Given the description of an element on the screen output the (x, y) to click on. 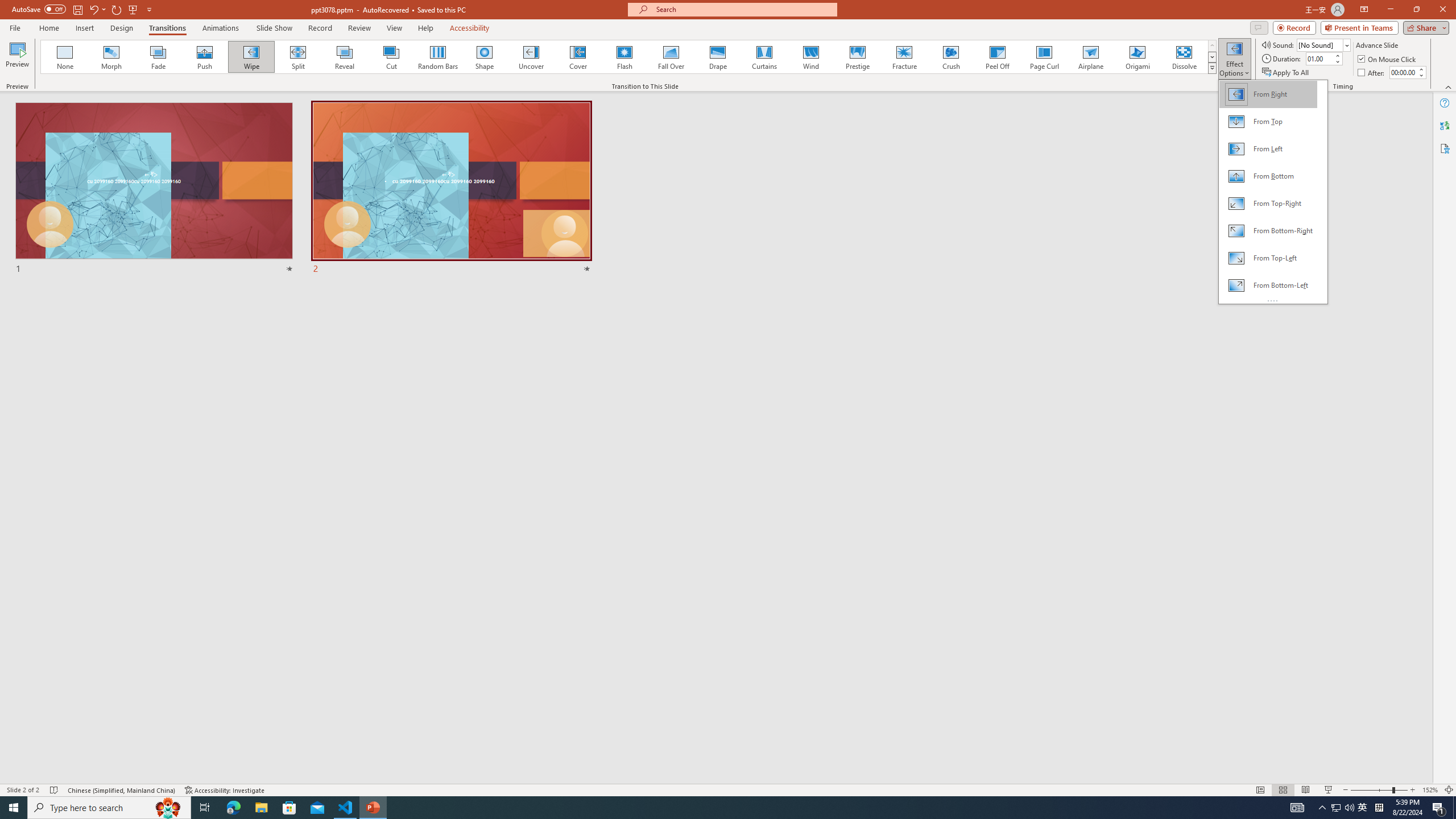
Morph (111, 56)
